Given the description of an element on the screen output the (x, y) to click on. 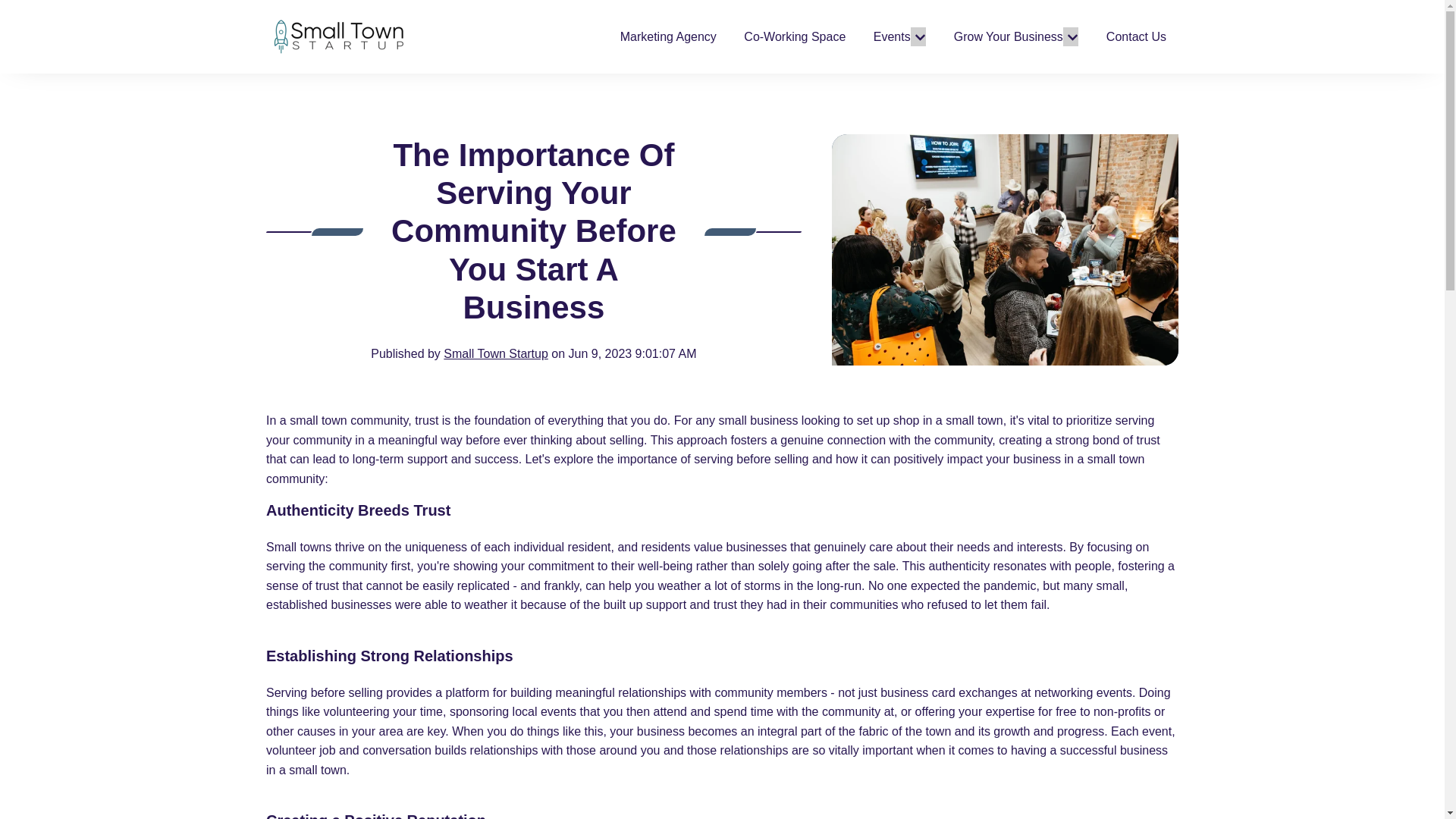
Grow Your Business (1007, 36)
Small Town Startup (496, 353)
Events (892, 36)
Contact Us (1136, 36)
Co-Working Space (794, 36)
Marketing Agency (668, 36)
